Given the description of an element on the screen output the (x, y) to click on. 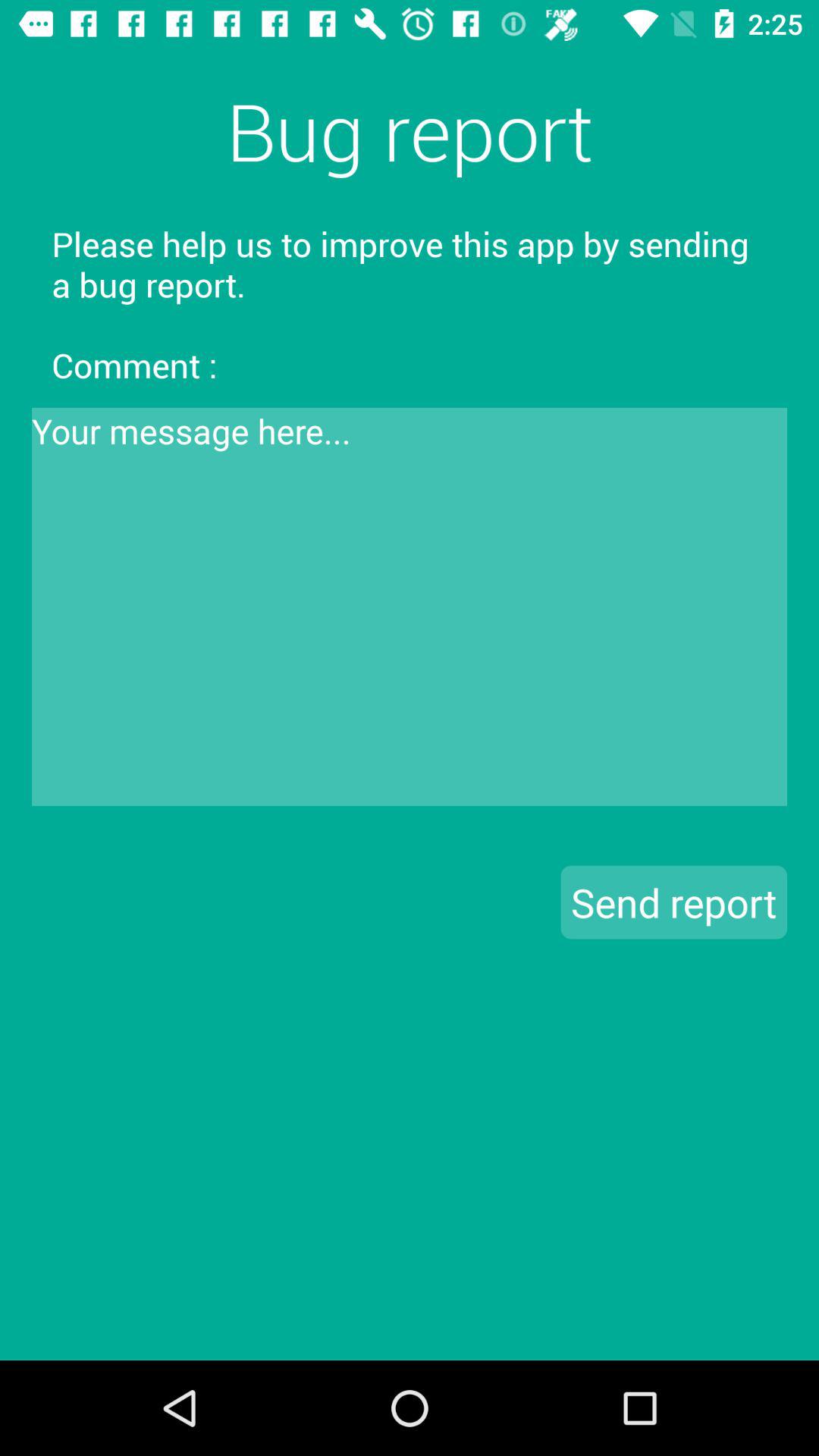
open comment search bar (409, 606)
